Given the description of an element on the screen output the (x, y) to click on. 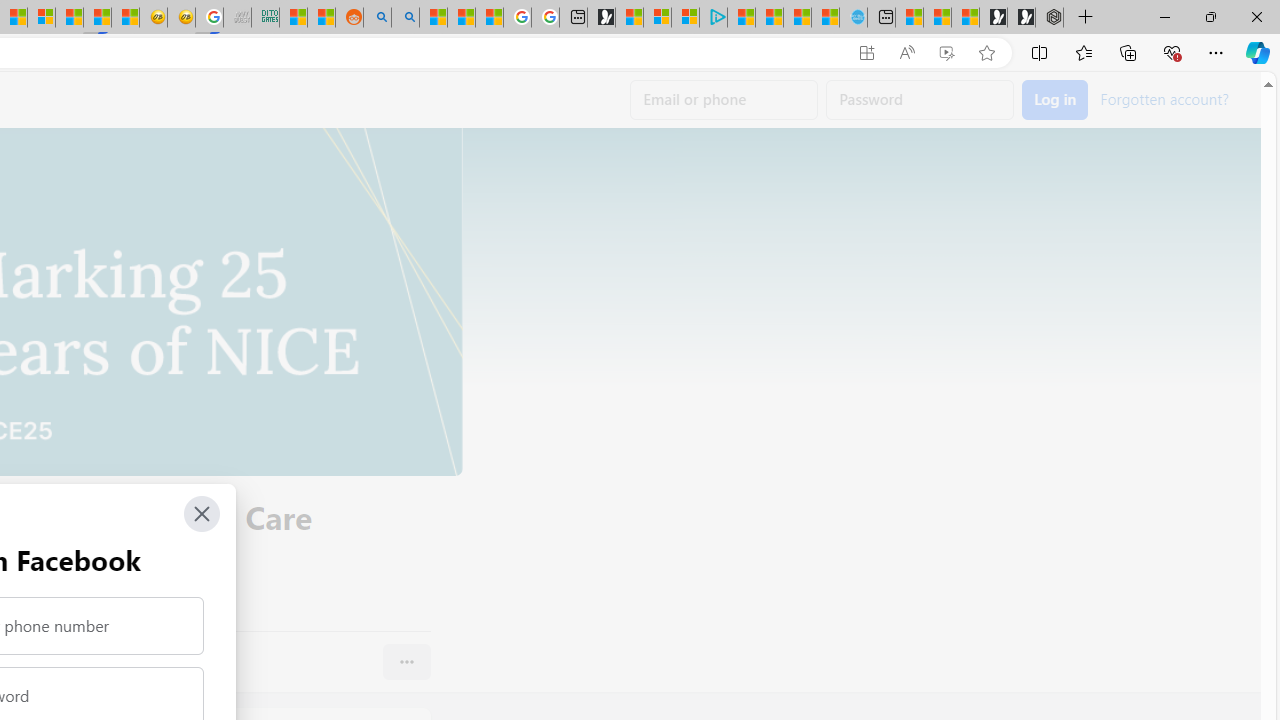
Enhance video (946, 53)
Accessible login button (1055, 99)
App available. Install Facebook (867, 53)
